Given the description of an element on the screen output the (x, y) to click on. 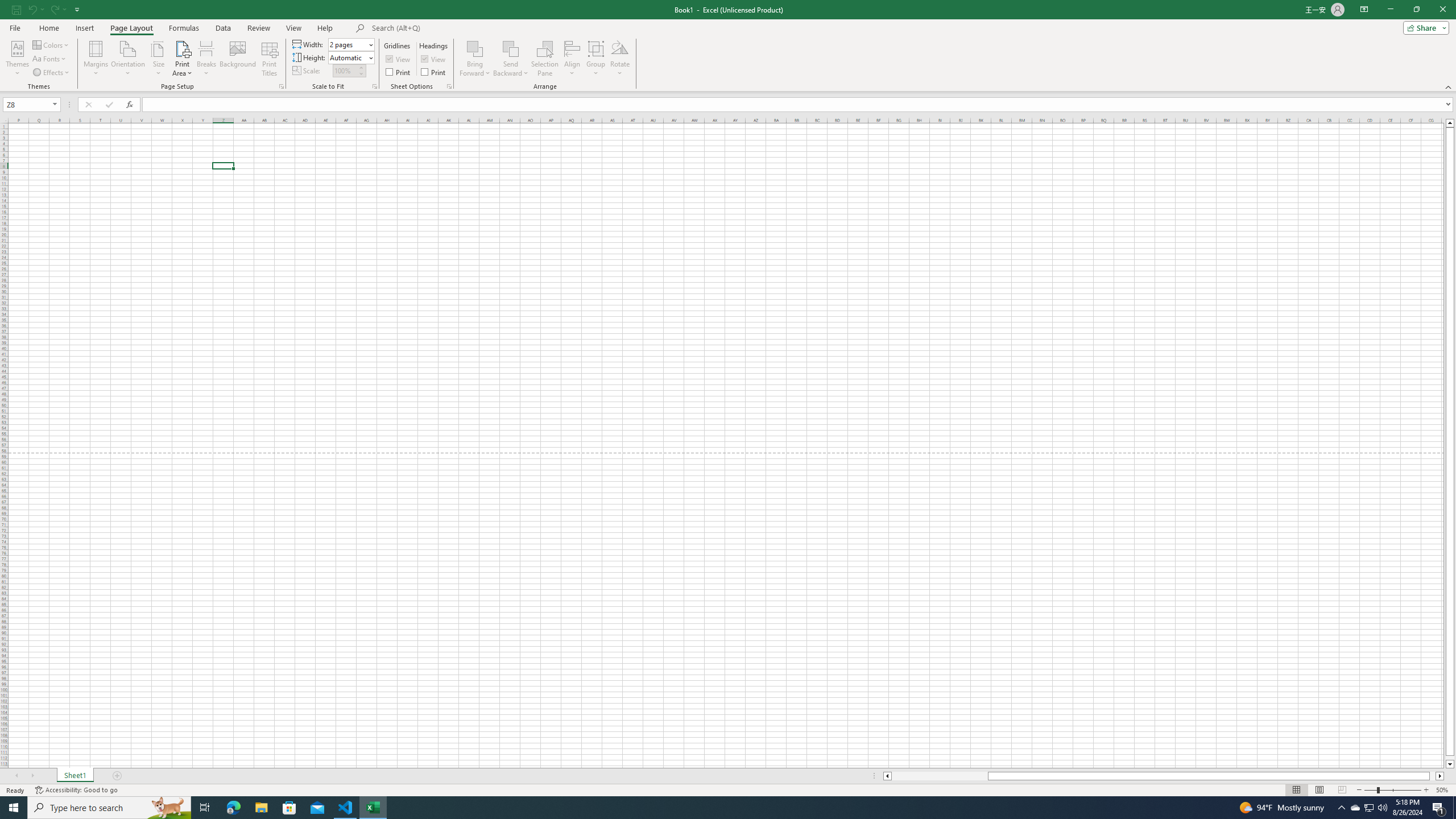
Send Backward (510, 48)
Fonts (49, 58)
Height (347, 57)
